Given the description of an element on the screen output the (x, y) to click on. 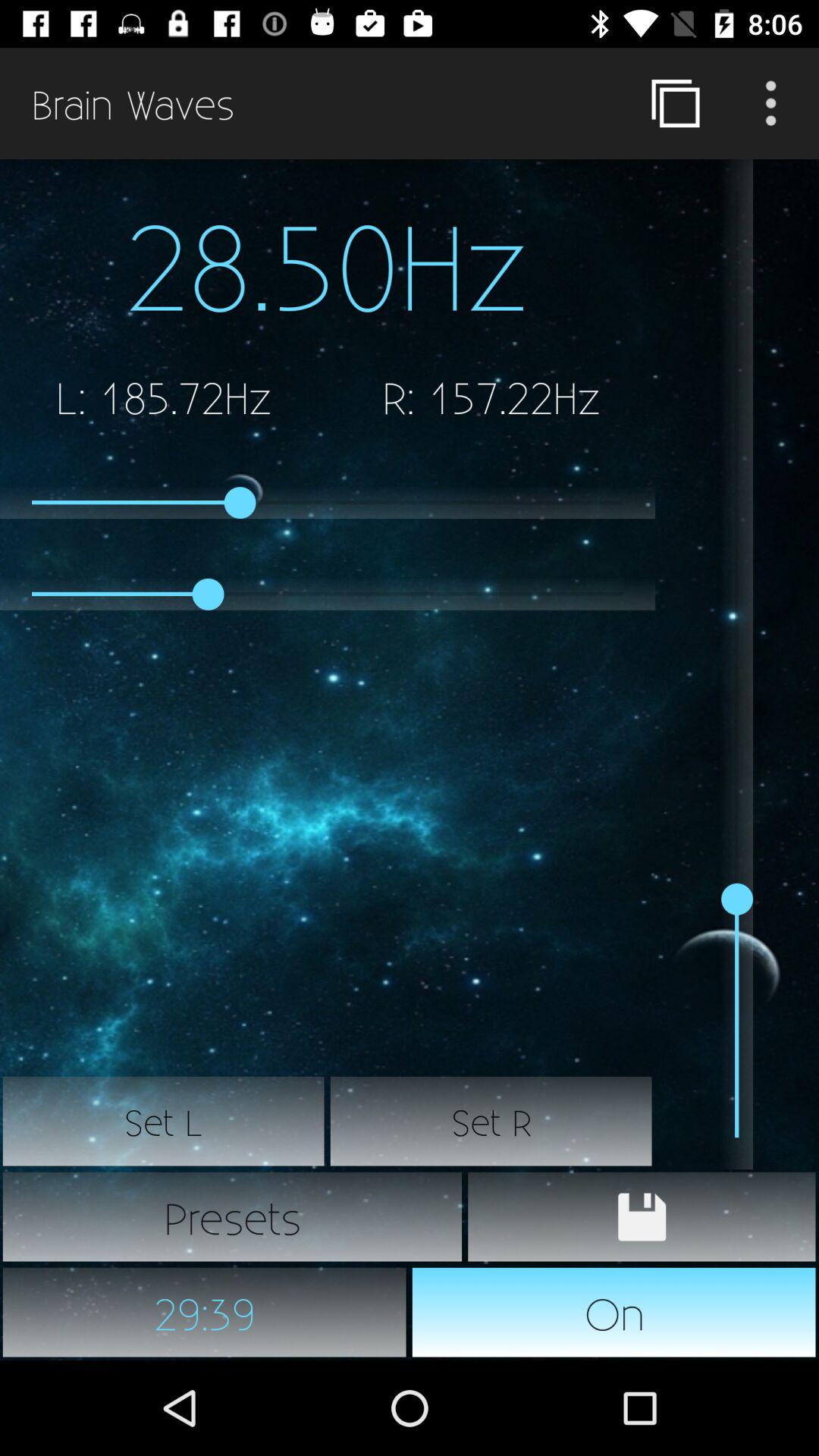
launch icon to the left of set r icon (163, 1121)
